Given the description of an element on the screen output the (x, y) to click on. 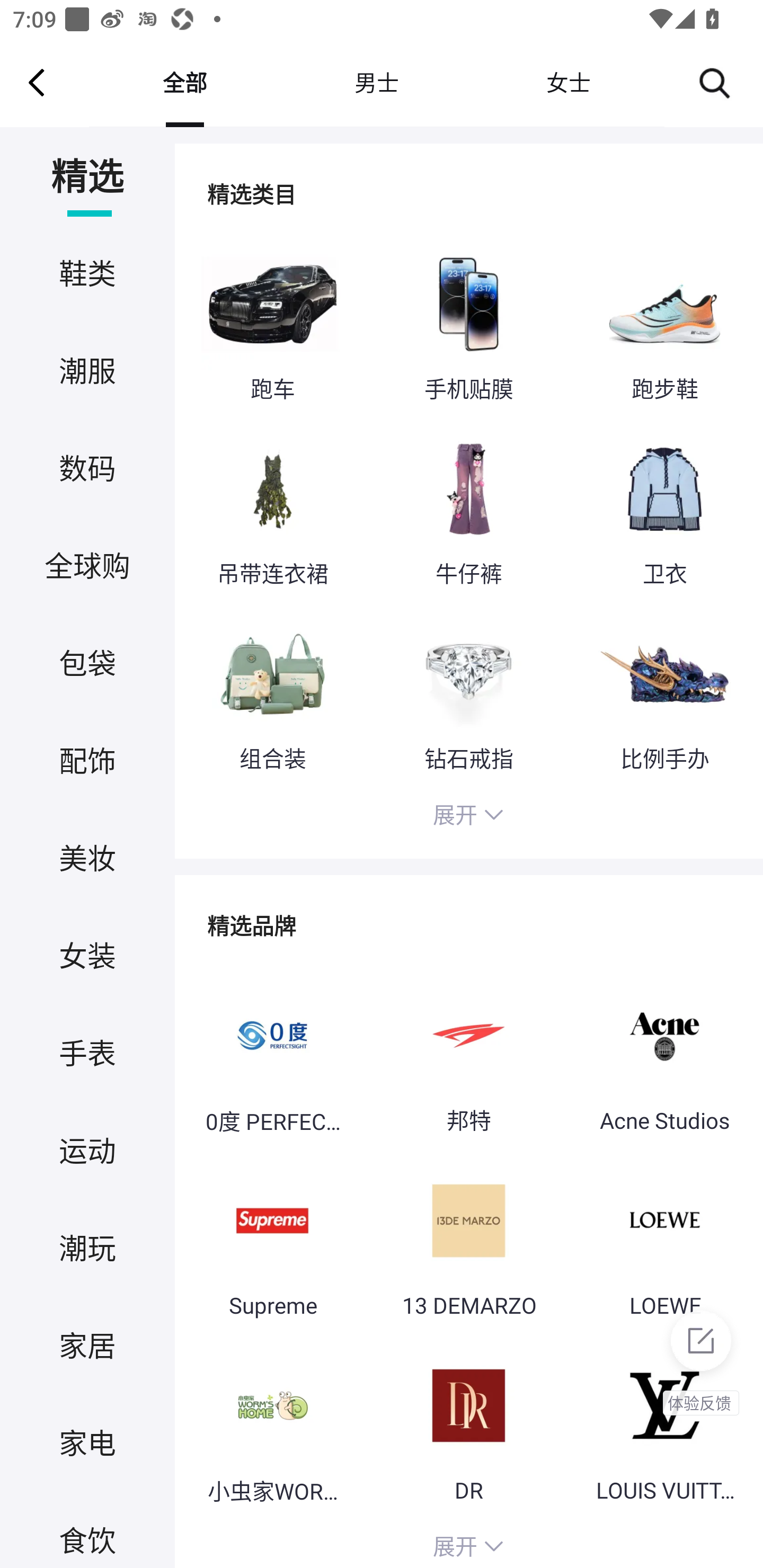
Navigate up (36, 82)
全部 (184, 82)
男士 (376, 82)
女士 (568, 82)
跑车 (272, 325)
手机贴膜 (468, 325)
跑步鞋 (664, 325)
吊带连衣裙 (272, 510)
牛仔裤 (468, 510)
卫衣 (664, 510)
组合装 (272, 694)
钻石戒指 (468, 694)
比例手办 (664, 694)
展开  (468, 817)
0度 PERFECTSIGHT (272, 1056)
邦特 (468, 1056)
Acne Studios (664, 1056)
Supreme (272, 1241)
13 DEMARZO (468, 1241)
LOEWE (664, 1241)
体验反馈 (700, 1358)
小虫家WORM'S HOME (272, 1426)
DR (468, 1426)
LOUIS VUITTON/路易威登 (664, 1426)
展开  (468, 1543)
